Given the description of an element on the screen output the (x, y) to click on. 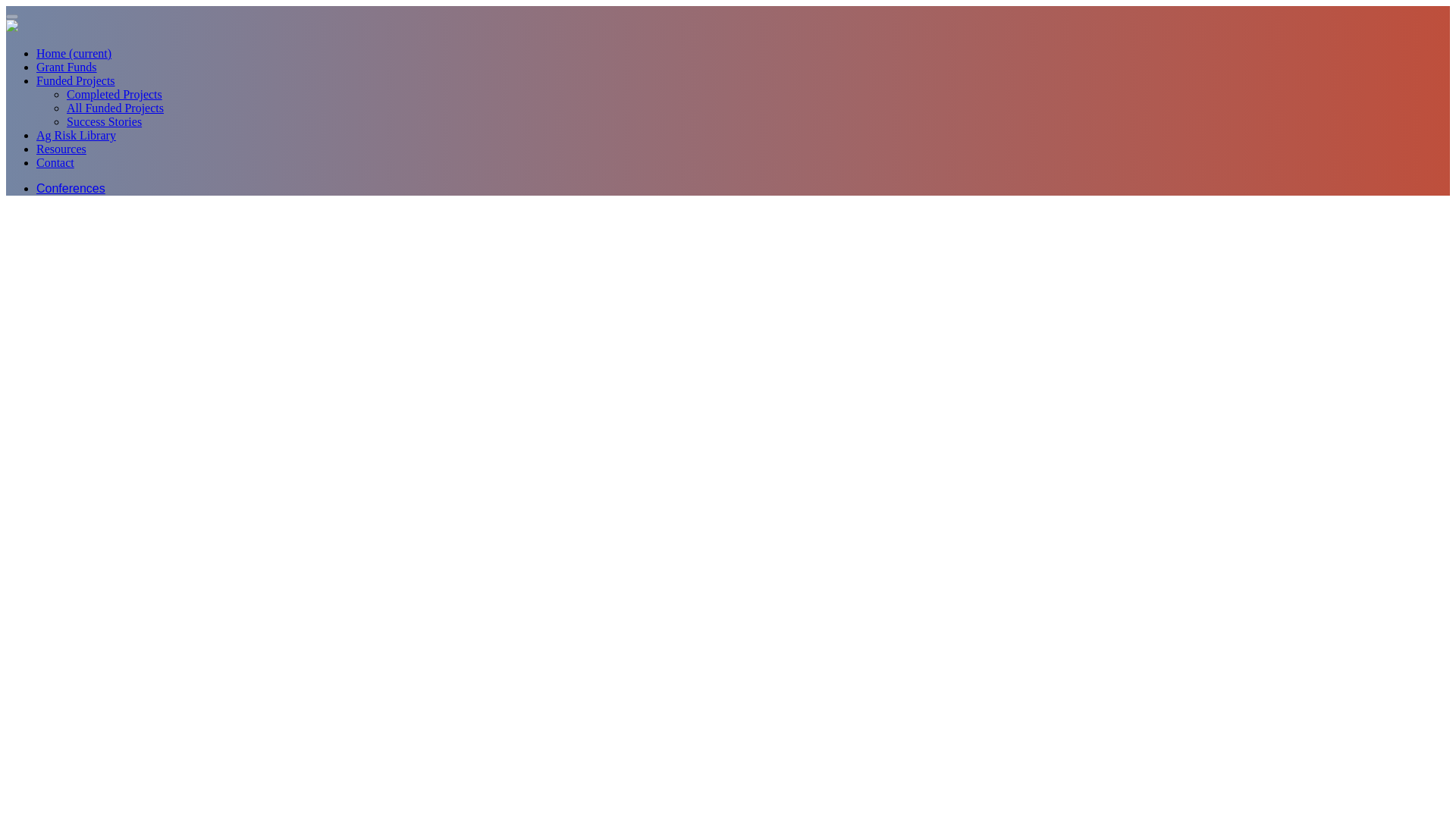
Ag Risk Library (76, 134)
Grant Funds (66, 66)
Resources (60, 148)
All Funded Projects (114, 107)
Completed Projects (113, 93)
Funded Projects (75, 80)
Contact (55, 162)
Success Stories (103, 121)
